Given the description of an element on the screen output the (x, y) to click on. 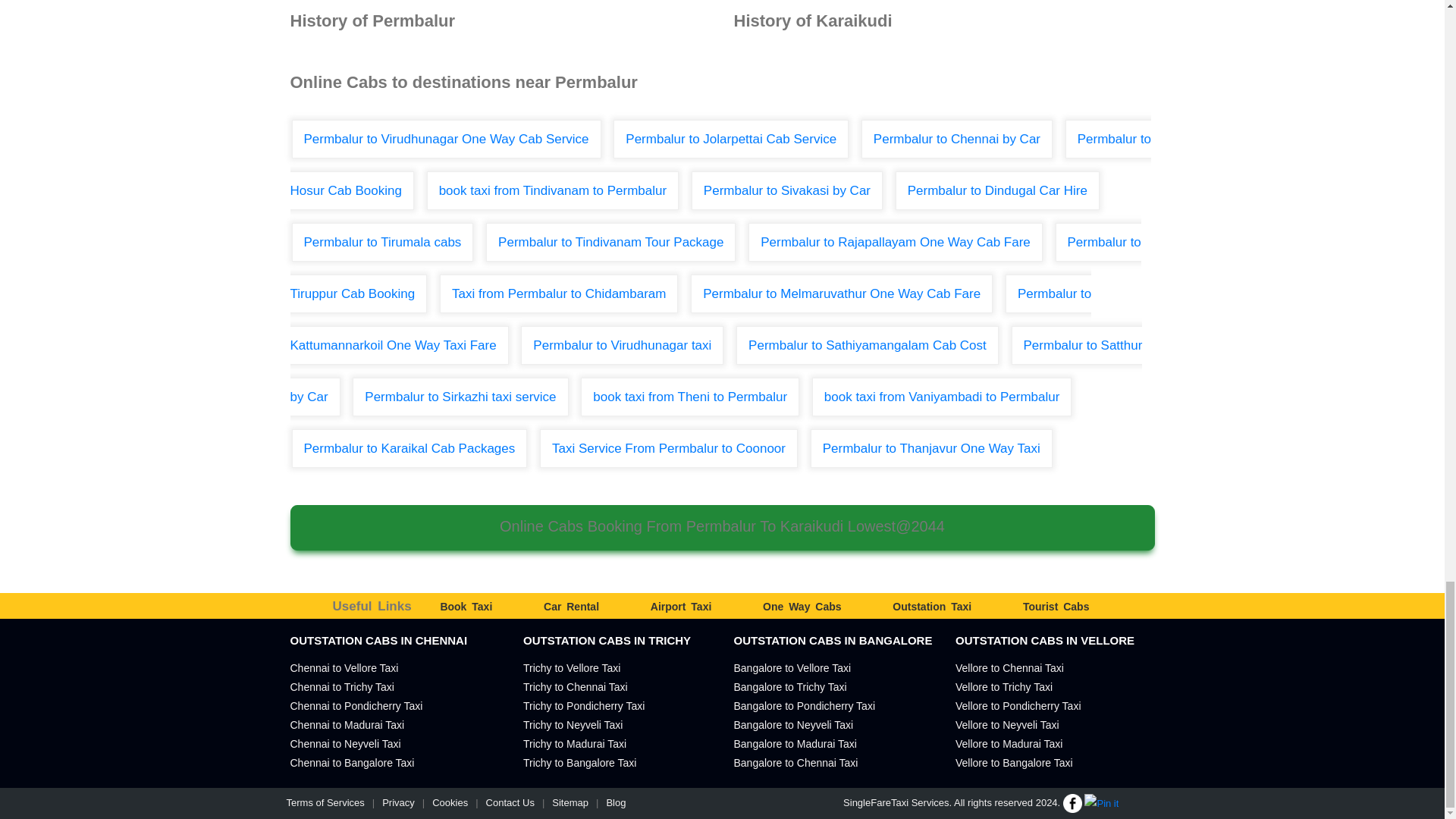
Permbalur to dindugal car hire (997, 190)
Permbalur to hosur cab booking (720, 164)
Permbalur to virudhunagar one way cab service (445, 138)
book taxi from Tindivanam to Permbalur (552, 190)
Permbalur to Virudhunagar taxi (622, 344)
Permbalur to Satthur by Car (715, 370)
Permbalur to chennai by car (956, 138)
Permbalur to Tindivanam Tour Package (610, 241)
Permbalur to Tiruppur Cab Booking (714, 267)
Permbalur to Sivakasi by Car (786, 190)
Permbalur to Melmaruvathur One Way Cab Fare (841, 293)
Permbalur to sivakasi by car (786, 190)
Permbalur to Virudhunagar One Way Cab Service (445, 138)
Permbalur to Chennai by Car (956, 138)
Permbalur to Jolarpettai Cab Service (730, 138)
